Given the description of an element on the screen output the (x, y) to click on. 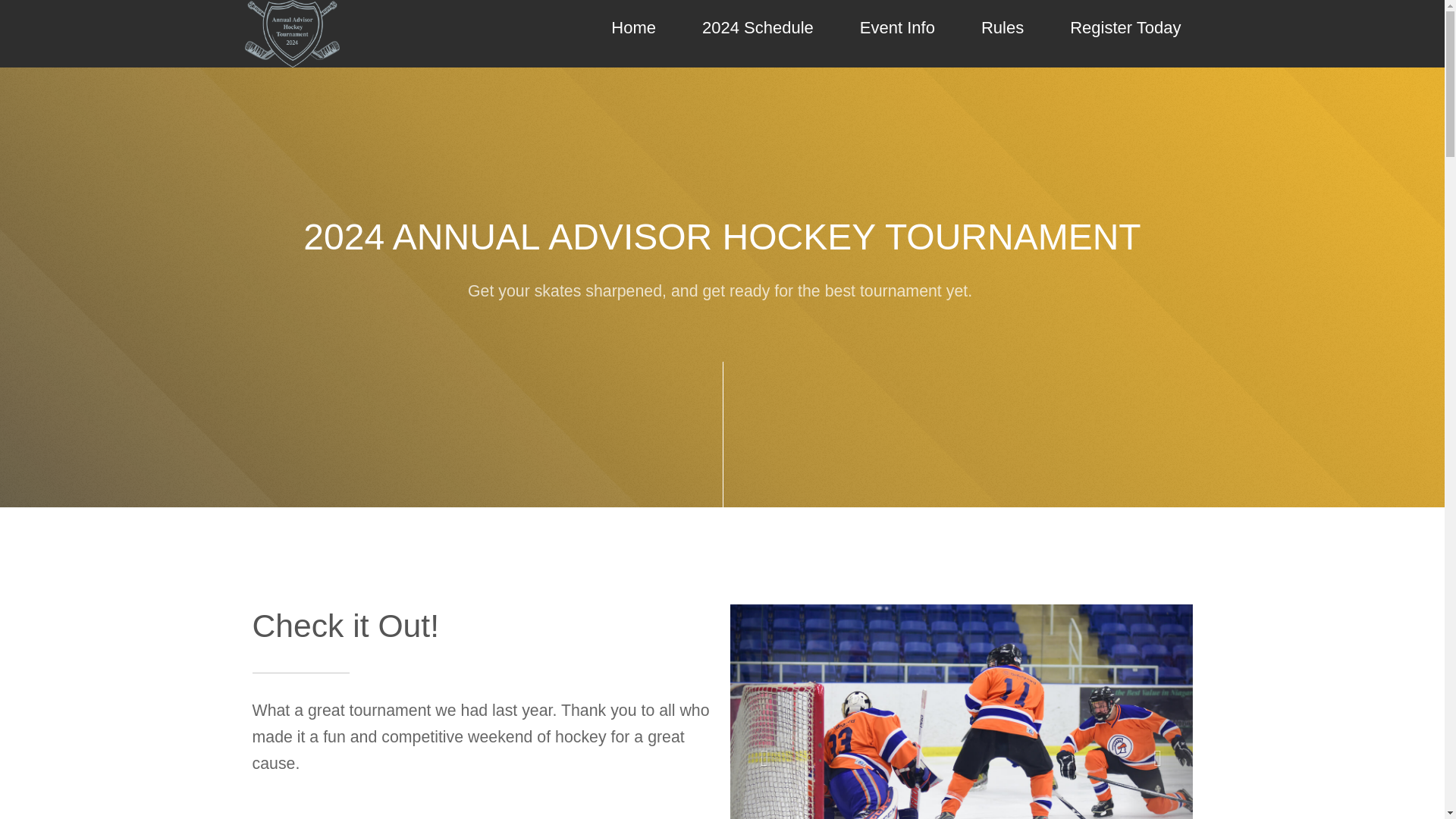
Register Today (1125, 33)
Event Info (897, 33)
Home (633, 33)
Rules (1002, 33)
2024 Schedule (757, 33)
